Given the description of an element on the screen output the (x, y) to click on. 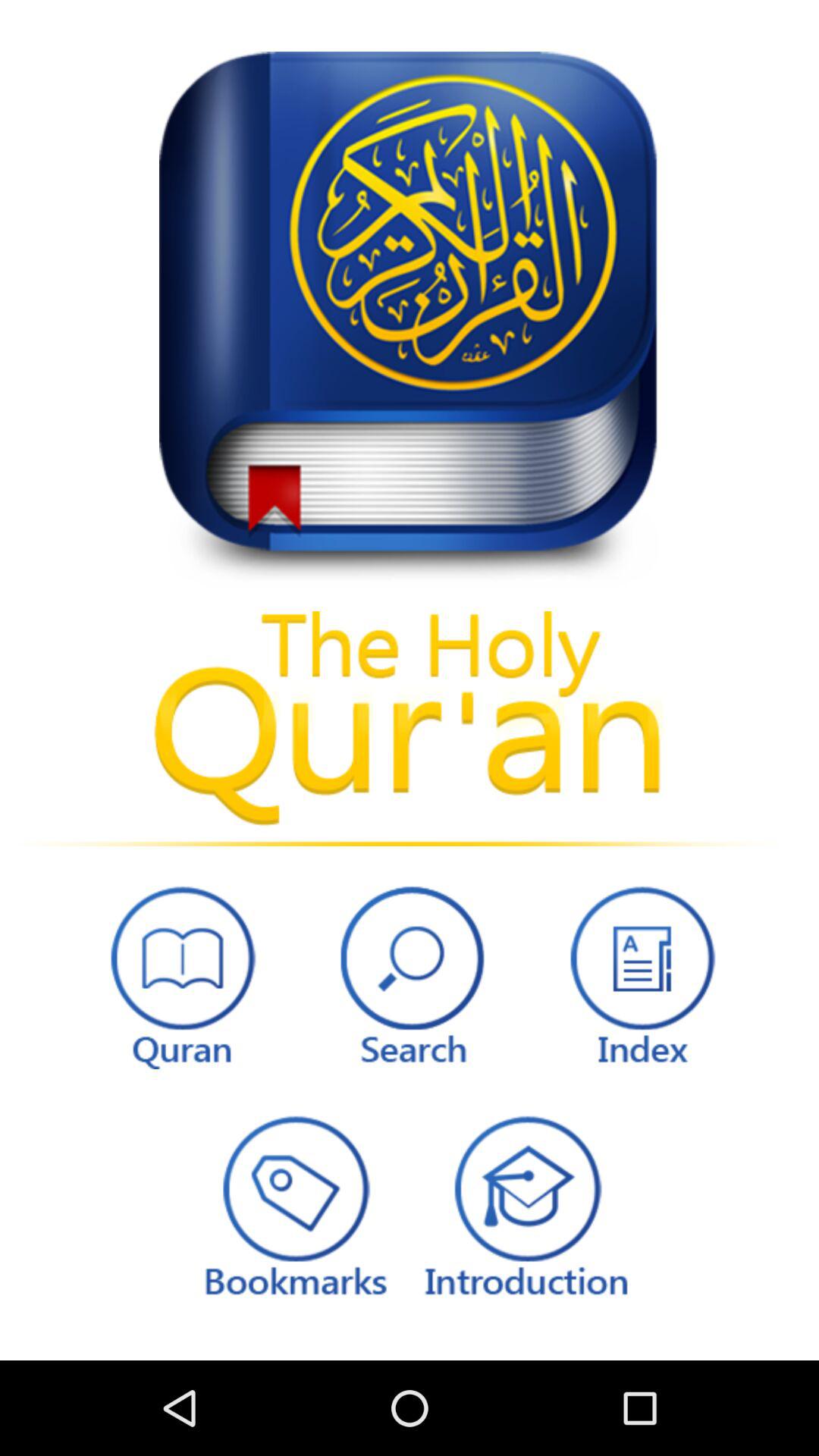
tap icon at the bottom right corner (639, 973)
